Given the description of an element on the screen output the (x, y) to click on. 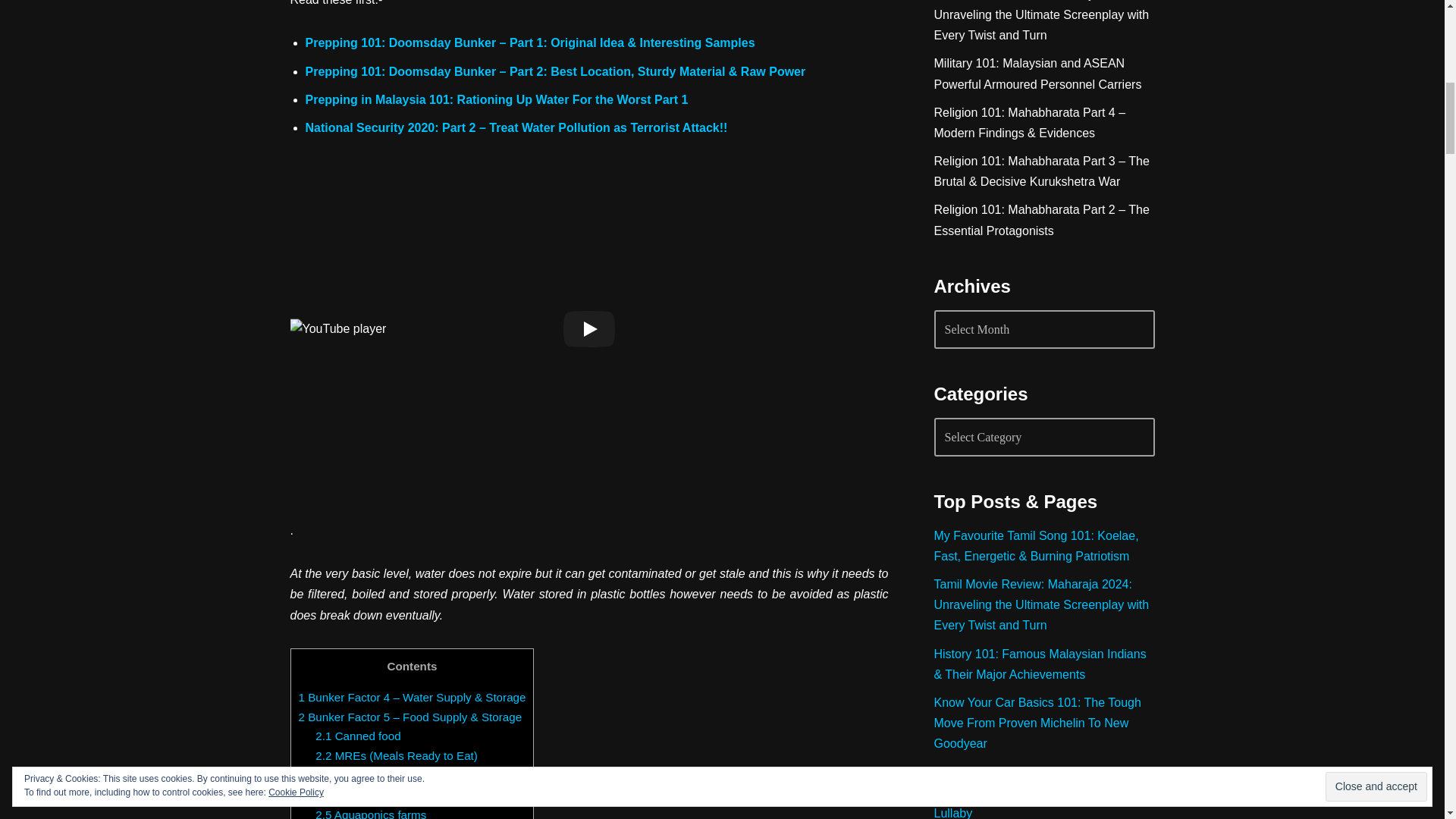
2.3 Deep frozen food (369, 775)
2.1 Canned food (357, 735)
2.5 Aquaponics farms (370, 813)
2.4 Salted dry food (363, 794)
